Given the description of an element on the screen output the (x, y) to click on. 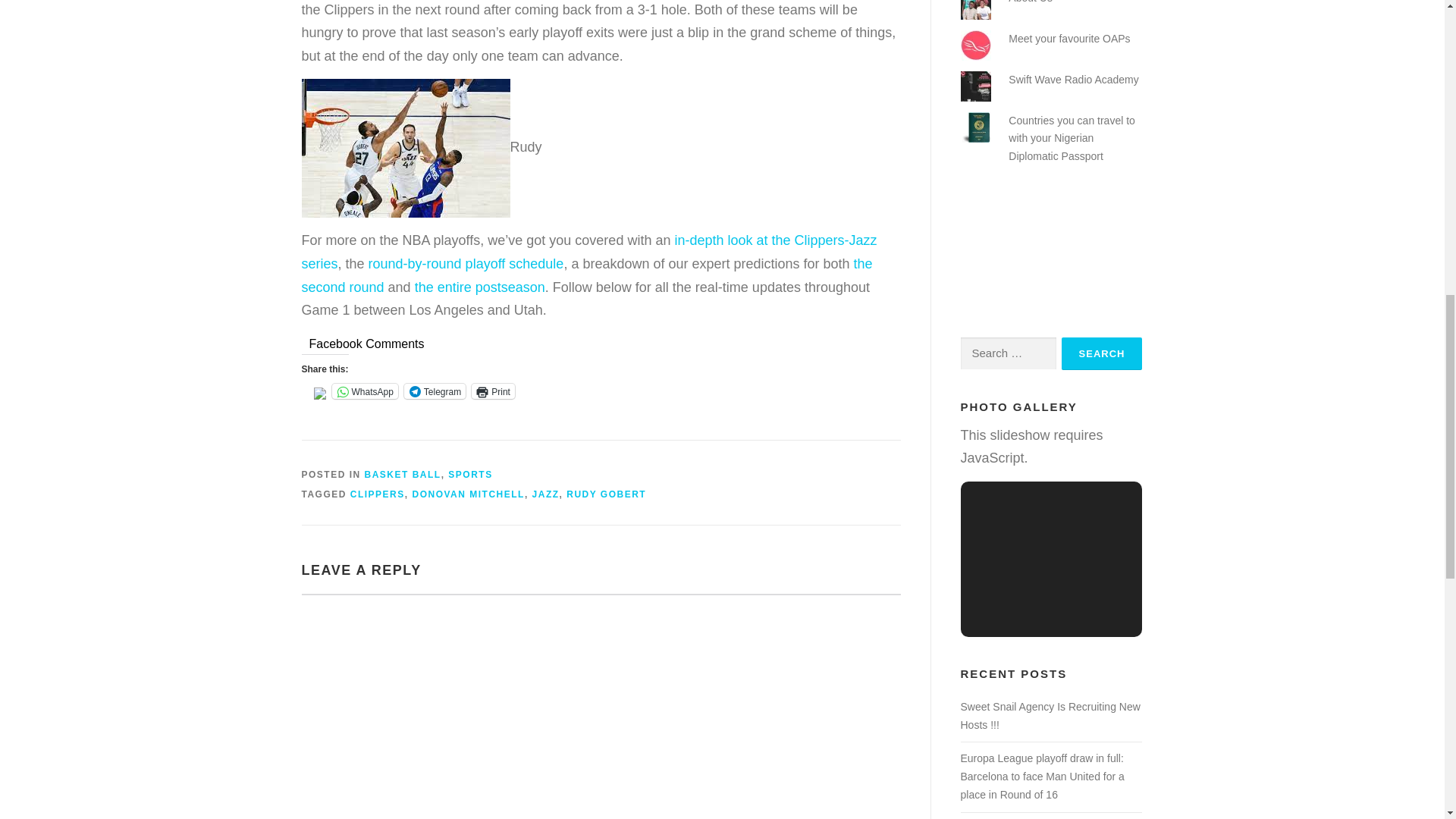
Meet your favourite OAPs (1069, 38)
Telegram (434, 391)
the second round (586, 275)
Meet your favourite OAPs (1069, 38)
About Us (1030, 2)
in-depth look at the Clippers-Jazz series (589, 251)
round-by-round playoff schedule (466, 263)
Click to share on WhatsApp (364, 391)
About Us (1030, 2)
Search (1101, 353)
